Given the description of an element on the screen output the (x, y) to click on. 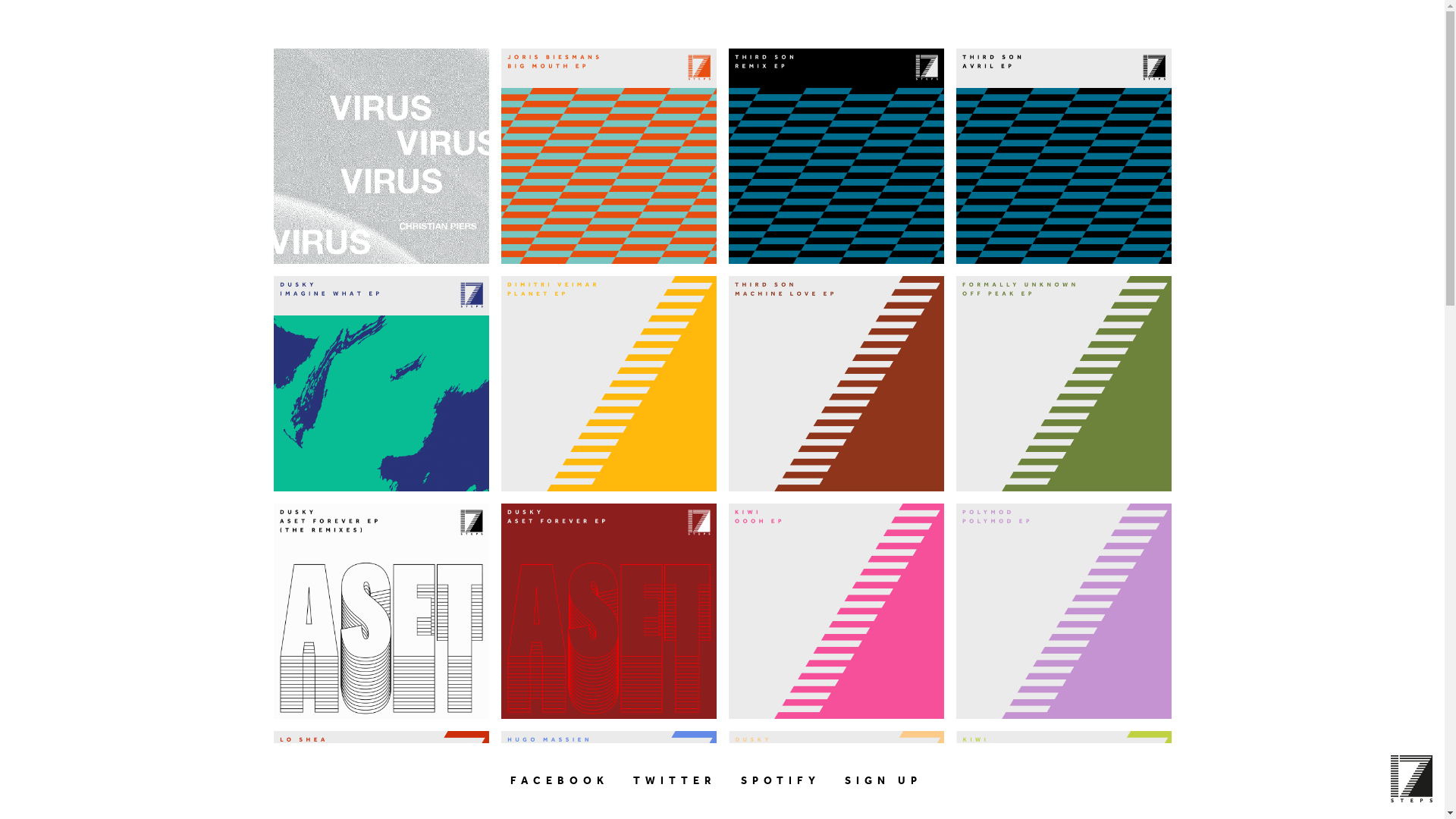
TWITTER Element type: text (674, 780)
SPOTIFY Element type: text (780, 780)
FACEBOOK Element type: text (559, 780)
